Given the description of an element on the screen output the (x, y) to click on. 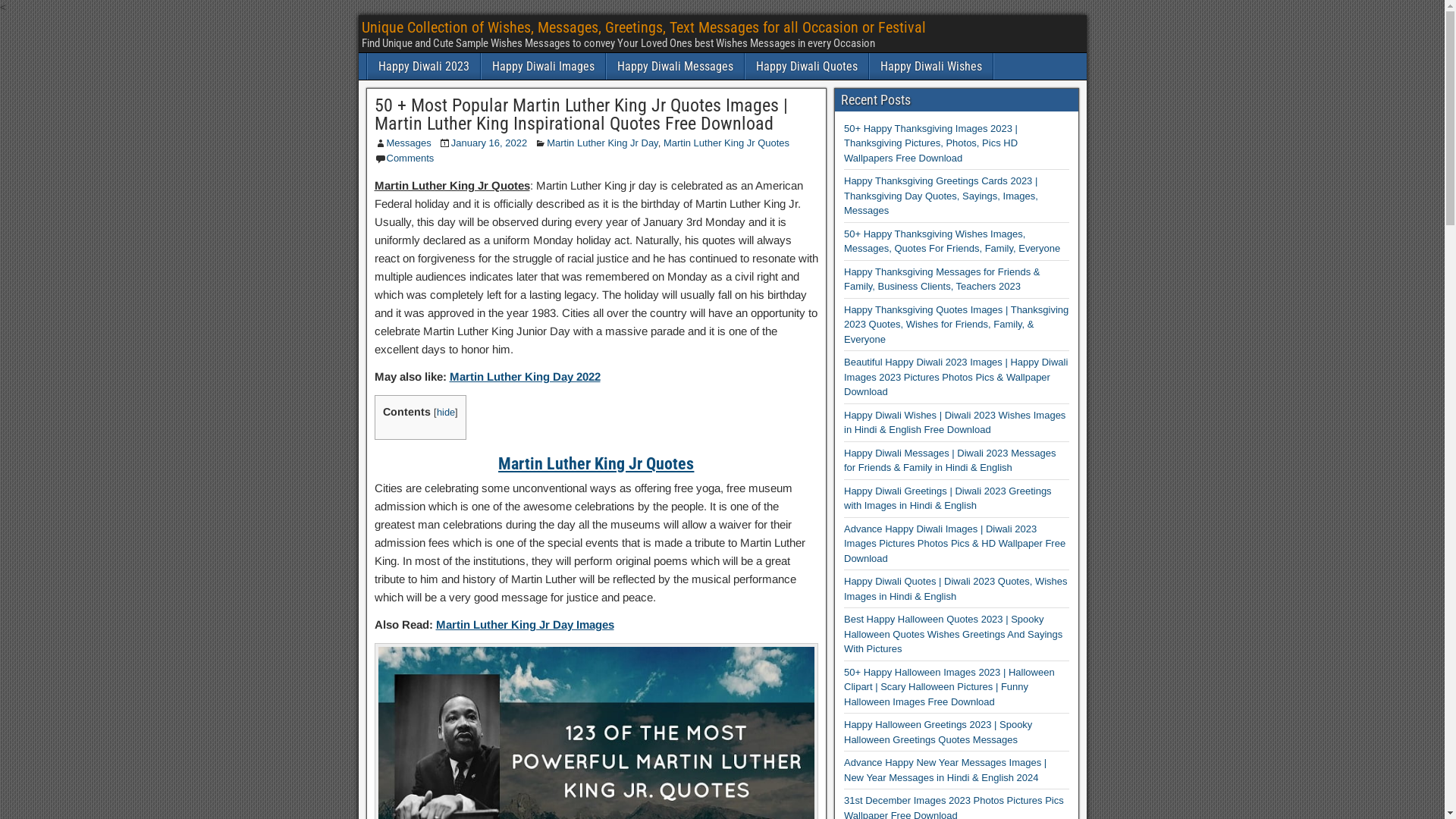
Martin Luther King Jr Day Images Element type: text (524, 624)
Happy Diwali Messages Element type: text (674, 66)
Happy Diwali Images Element type: text (542, 66)
Happy Diwali Wishes Element type: text (930, 66)
Martin Luther King Jr Quotes Element type: text (726, 142)
Martin Luther King Jr Quotes Element type: text (595, 463)
January 16, 2022 Element type: text (489, 142)
Messages Element type: text (408, 142)
Happy Diwali 2023 Element type: text (423, 66)
Martin Luther King Day 2022 Element type: text (523, 376)
Happy Diwali Quotes Element type: text (805, 66)
Comments Element type: text (410, 157)
hide Element type: text (445, 411)
Martin Luther King Jr Day Element type: text (601, 142)
